Given the description of an element on the screen output the (x, y) to click on. 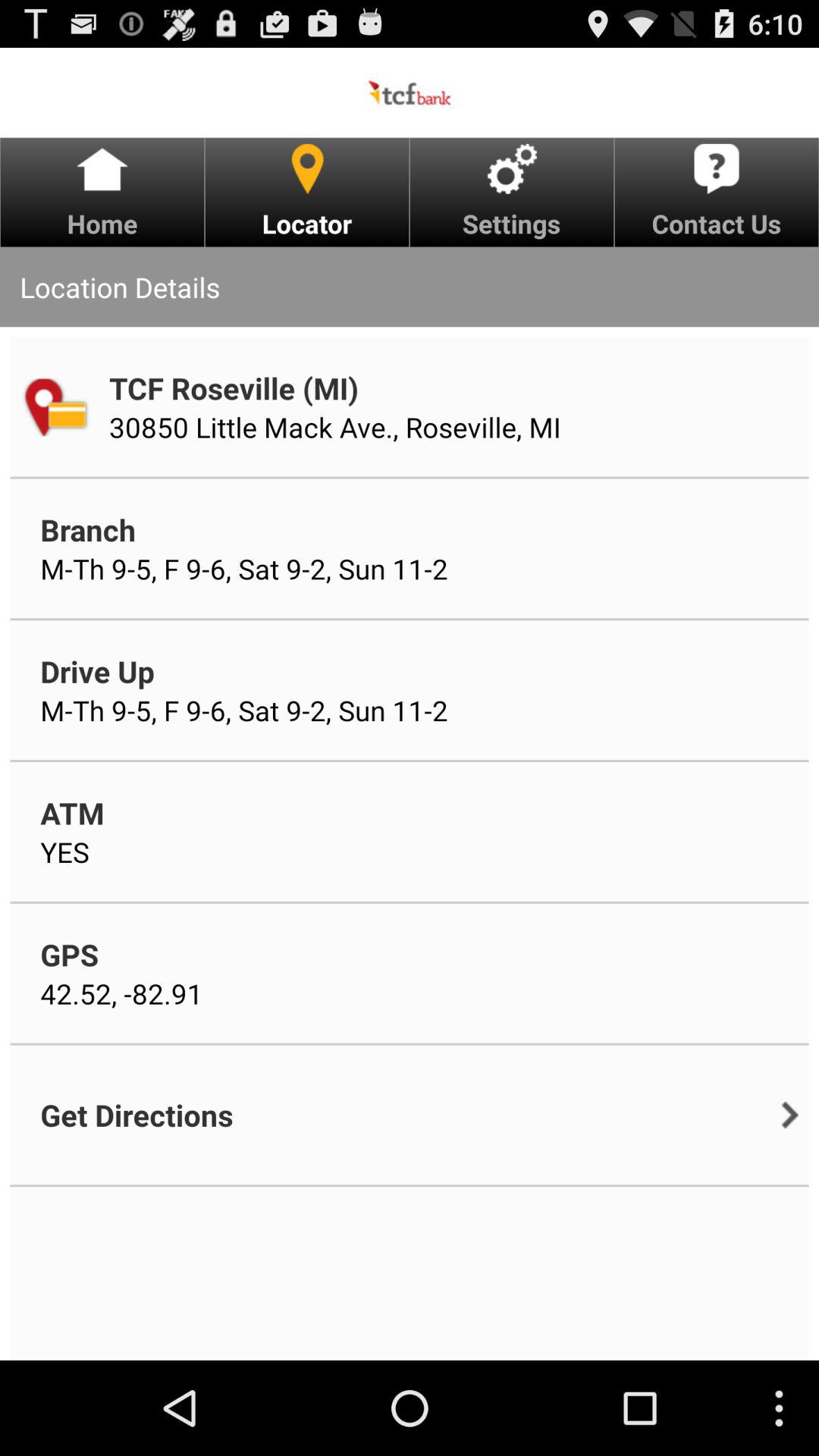
choose get directions item (136, 1114)
